Given the description of an element on the screen output the (x, y) to click on. 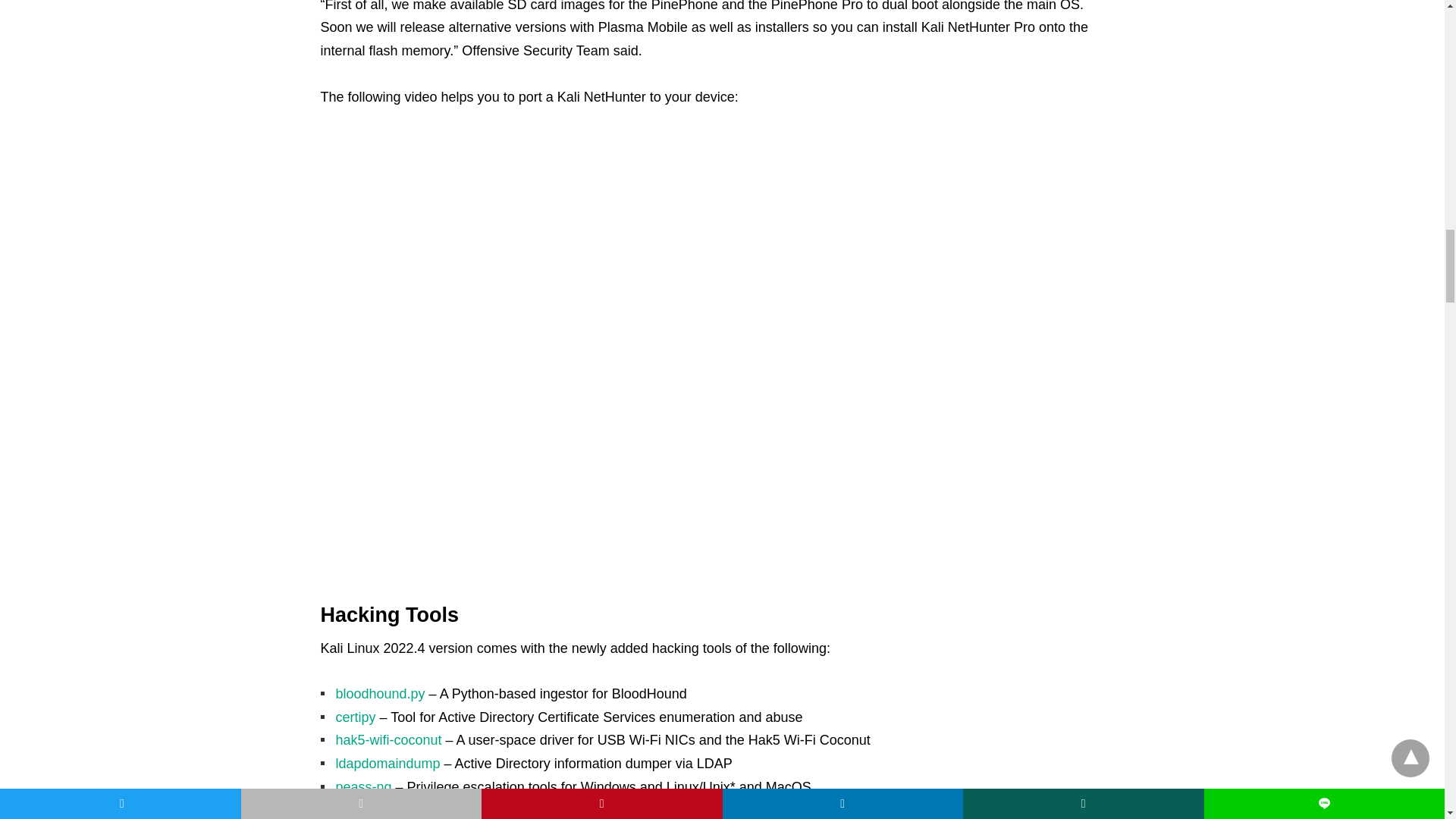
bloodhound.py (379, 693)
peass-ng (362, 786)
ldapdomaindump (386, 763)
certipy (354, 717)
hak5-wifi-coconut (387, 739)
rizin-cutter (366, 809)
